Given the description of an element on the screen output the (x, y) to click on. 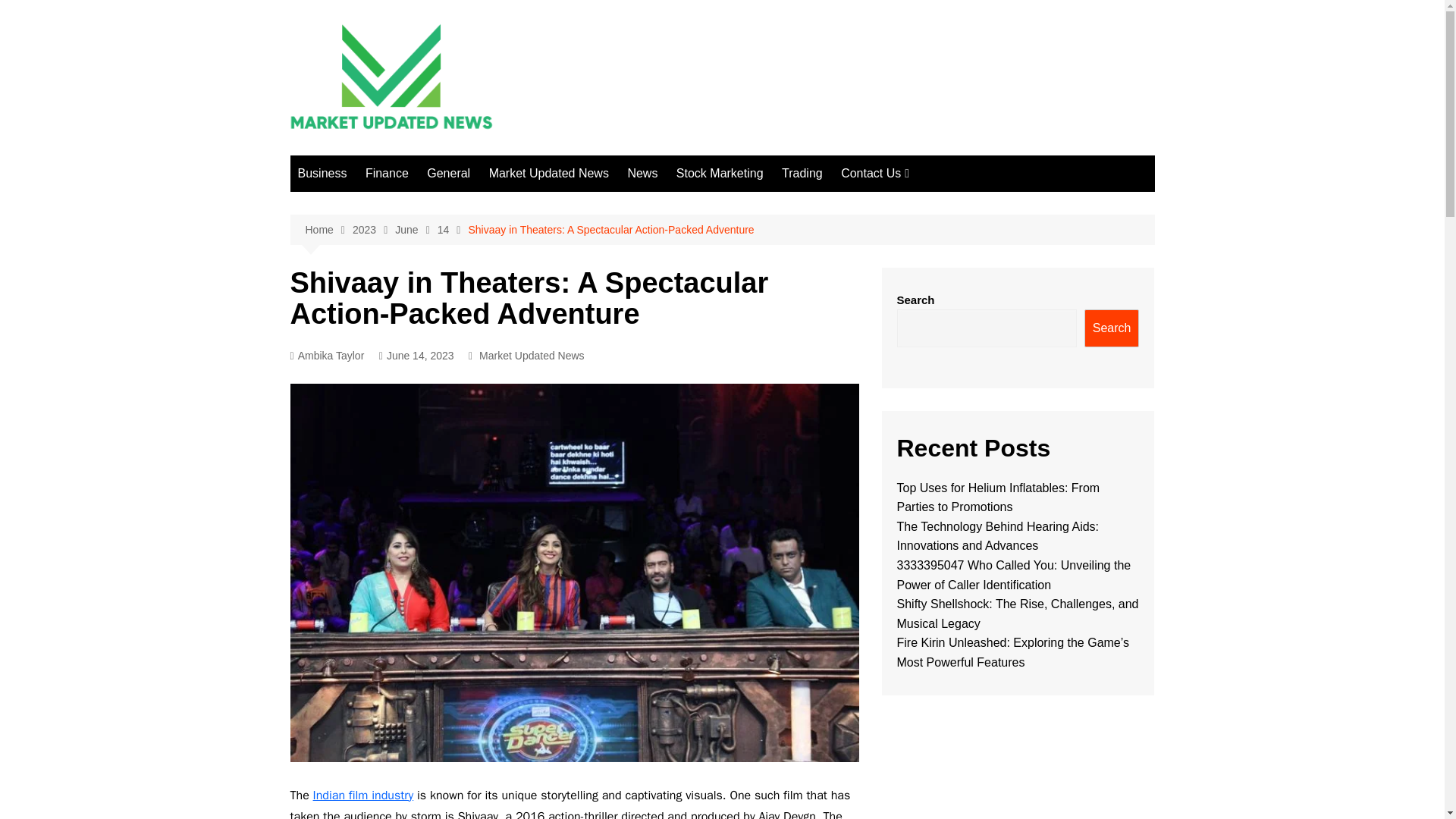
Business (321, 173)
Indian film industry (363, 795)
Market Updated News (532, 355)
Market Updated News (548, 173)
Shivaay in Theaters: A Spectacular Action-Packed Adventure (610, 229)
Cookies Policy (916, 253)
Ambika Taylor (326, 355)
June 14, 2023 (416, 355)
News (642, 173)
14 (453, 230)
Finance (387, 173)
Privacy Policy (916, 329)
Affiliate Disclaimer (916, 229)
Contact Us (874, 173)
June (415, 230)
